Given the description of an element on the screen output the (x, y) to click on. 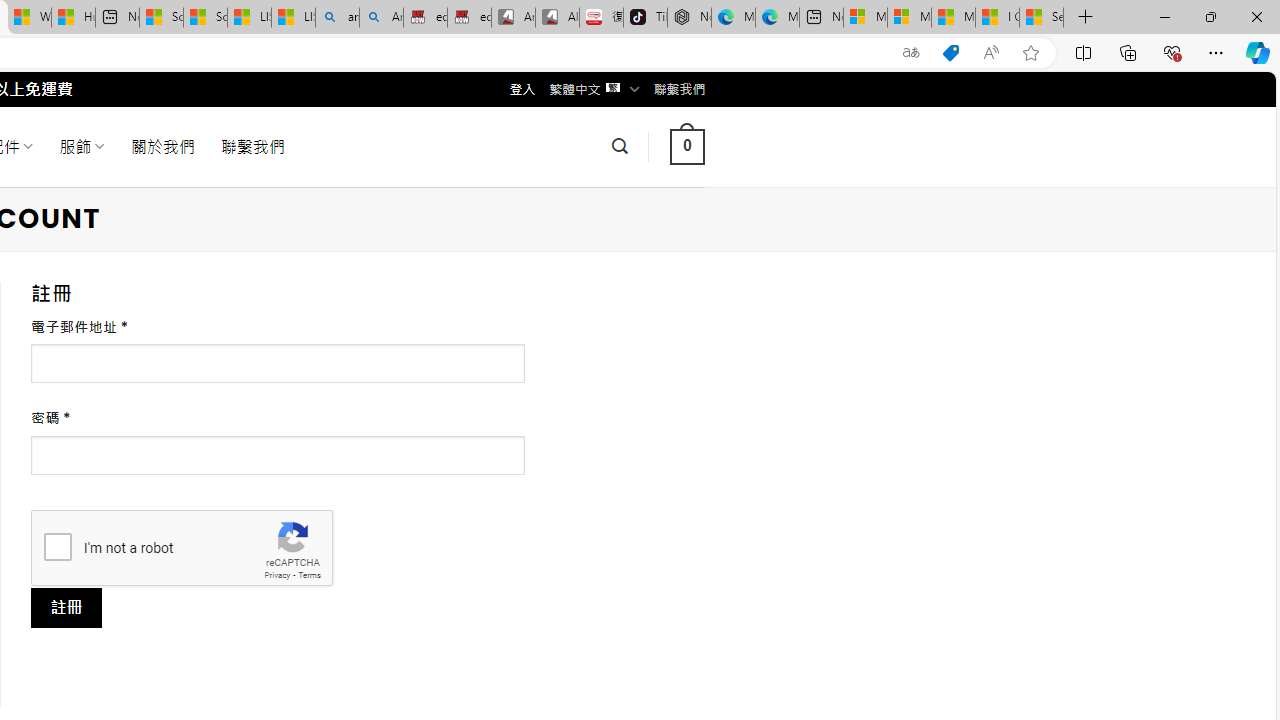
Nordace - Best Sellers (689, 17)
Add this page to favorites (Ctrl+D) (1030, 53)
Microsoft account | Privacy (909, 17)
Read aloud this page (Ctrl+Shift+U) (991, 53)
Huge shark washes ashore at New York City beach | Watch (73, 17)
Browser essentials (1171, 52)
I Gained 20 Pounds of Muscle in 30 Days! | Watch (996, 17)
